Given the description of an element on the screen output the (x, y) to click on. 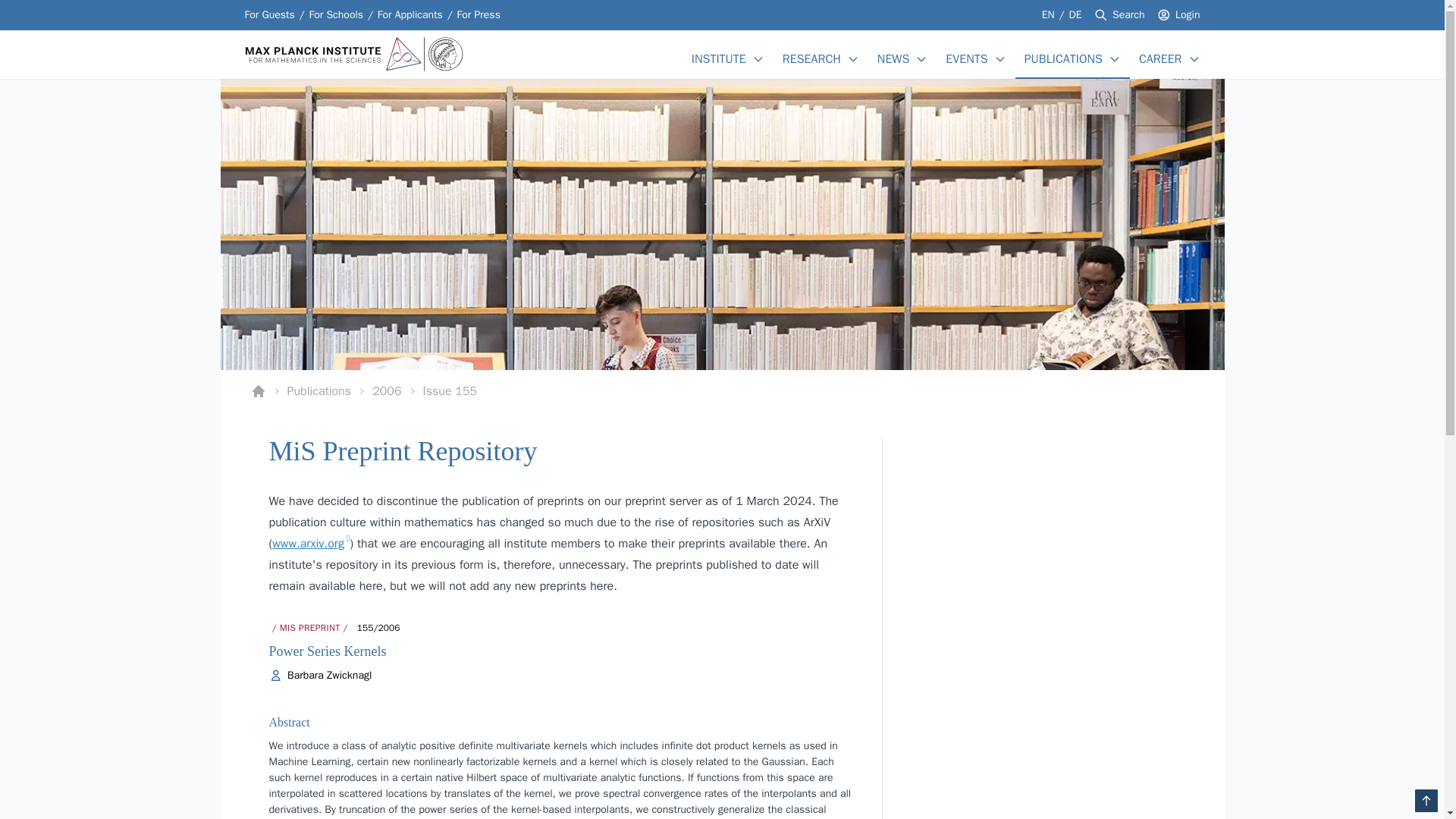
Research (812, 58)
DE (1074, 14)
EVENTS (965, 58)
EN (1050, 14)
NEWS (893, 58)
PUBLICATIONS (1063, 58)
For Schools (335, 14)
For Applicants (409, 14)
For Guests (269, 14)
For Schools (335, 14)
